Given the description of an element on the screen output the (x, y) to click on. 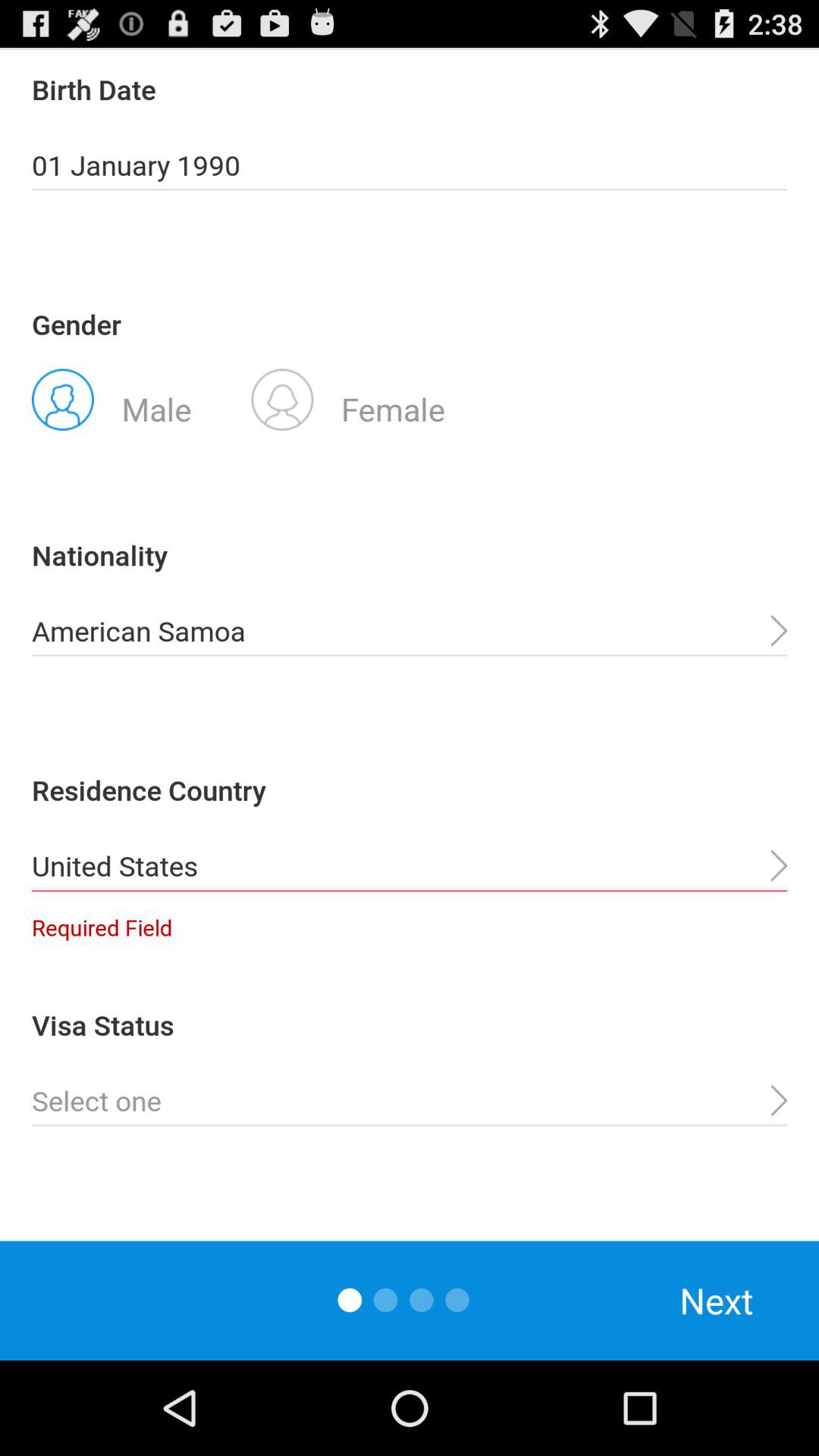
choose the icon to the left of the female item (111, 398)
